Given the description of an element on the screen output the (x, y) to click on. 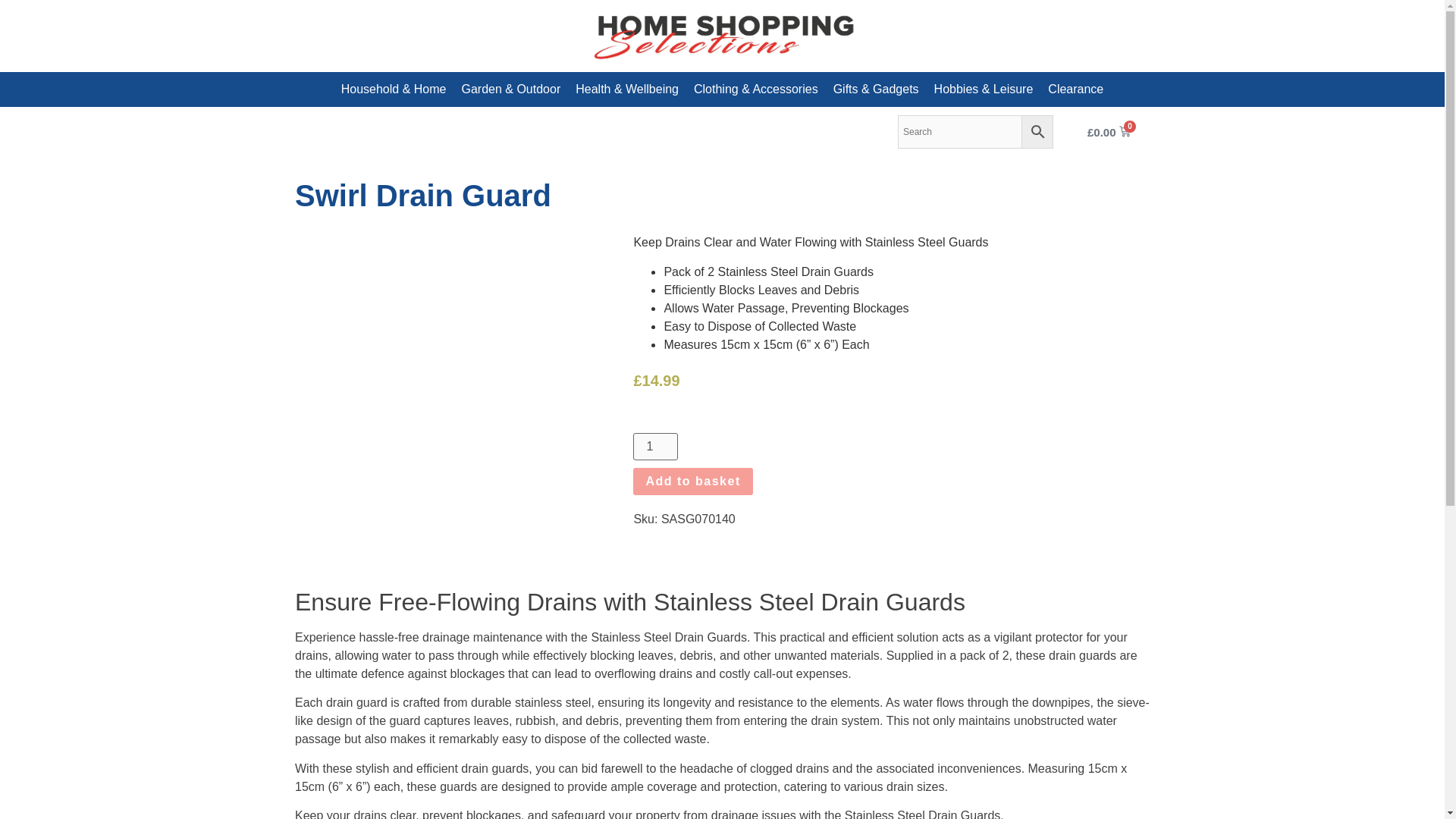
1 (655, 446)
